Given the description of an element on the screen output the (x, y) to click on. 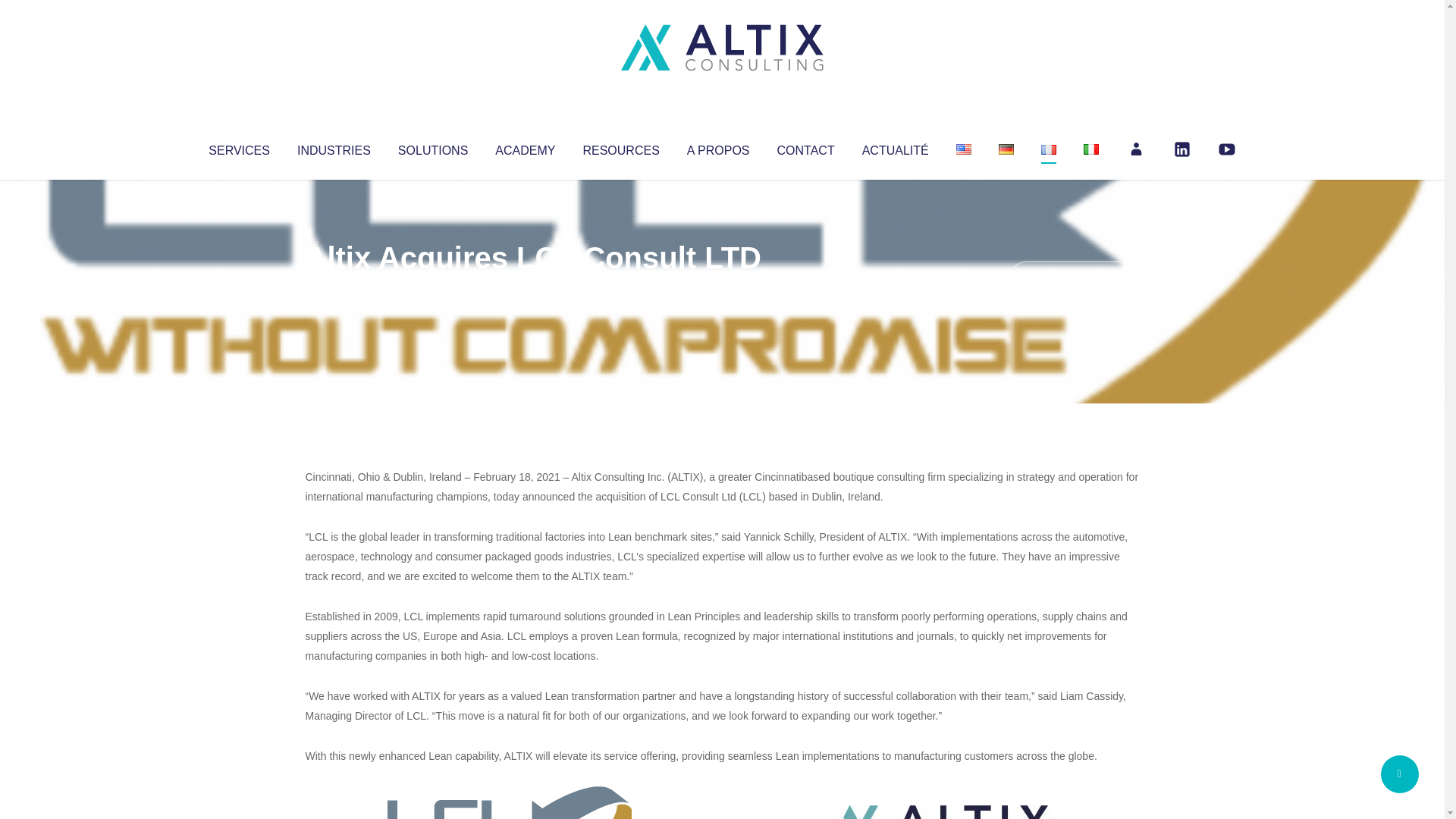
Articles par Altix (333, 287)
SOLUTIONS (432, 146)
SERVICES (238, 146)
ACADEMY (524, 146)
Uncategorized (530, 287)
INDUSTRIES (334, 146)
No Comments (1073, 278)
RESOURCES (620, 146)
Altix (333, 287)
A PROPOS (718, 146)
